Given the description of an element on the screen output the (x, y) to click on. 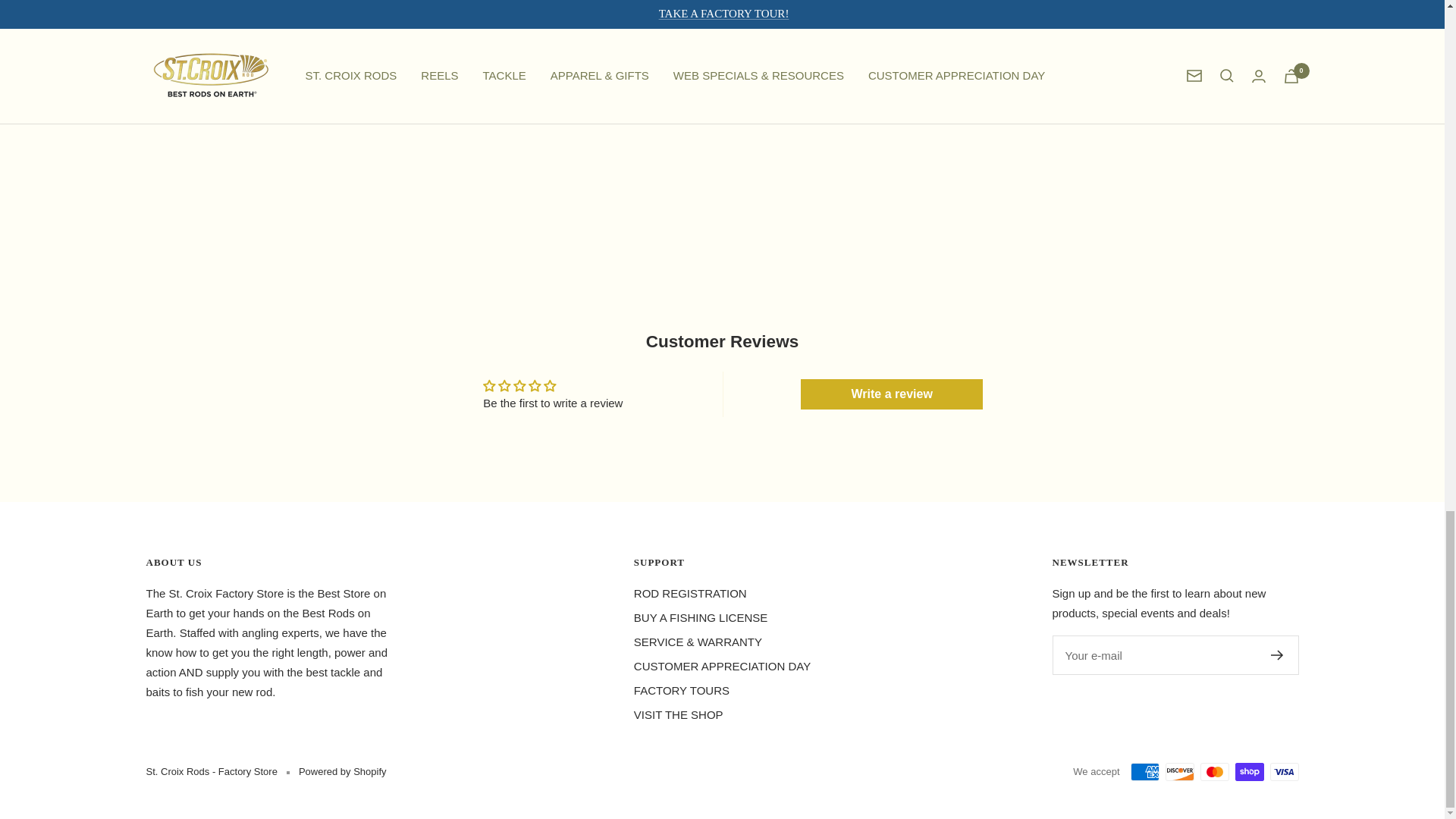
Register (1277, 655)
